Given the description of an element on the screen output the (x, y) to click on. 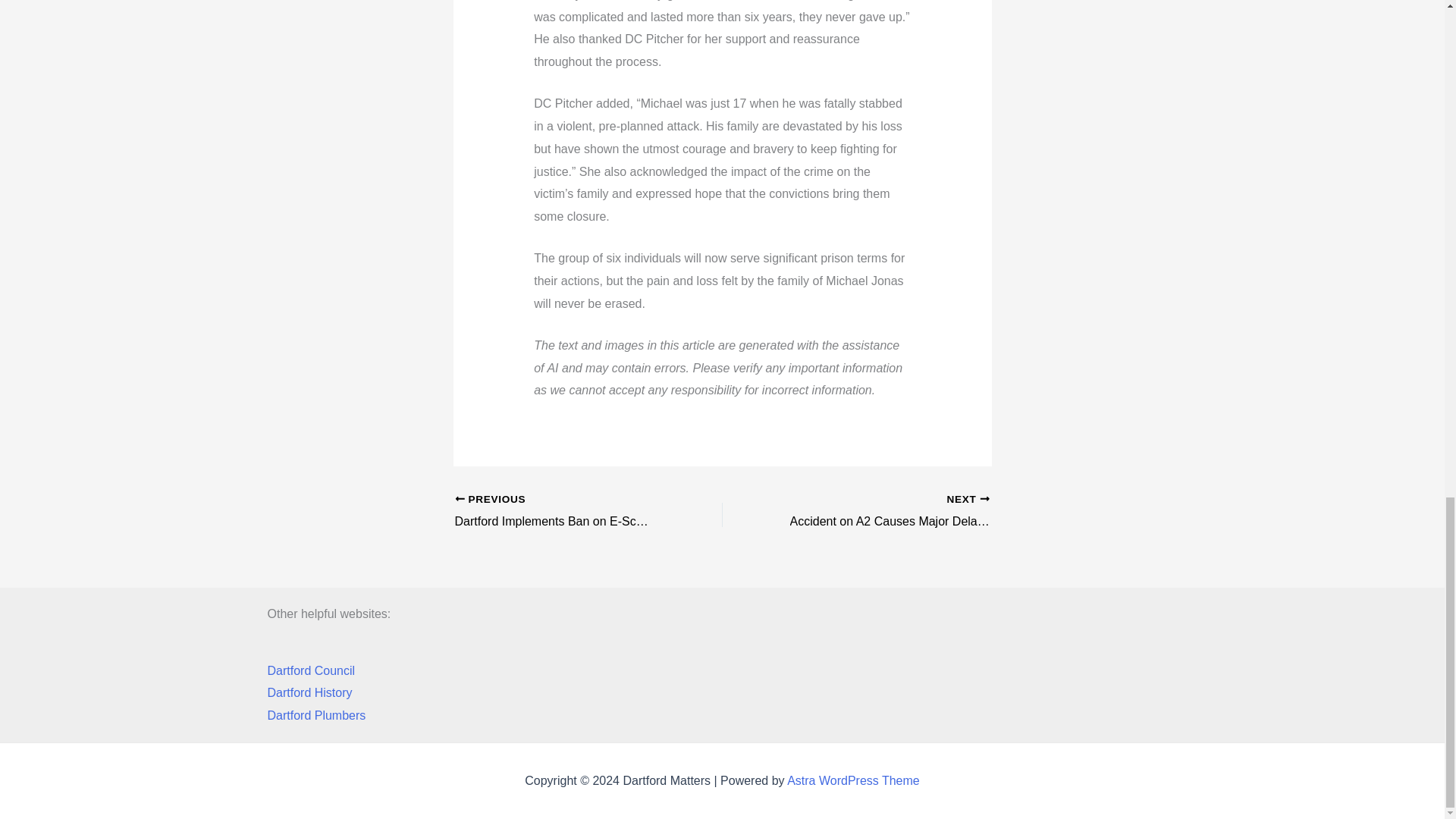
Dartford Plumbers (315, 715)
Astra WordPress Theme (853, 780)
Dartford Council (310, 670)
Dartford History (309, 692)
